Given the description of an element on the screen output the (x, y) to click on. 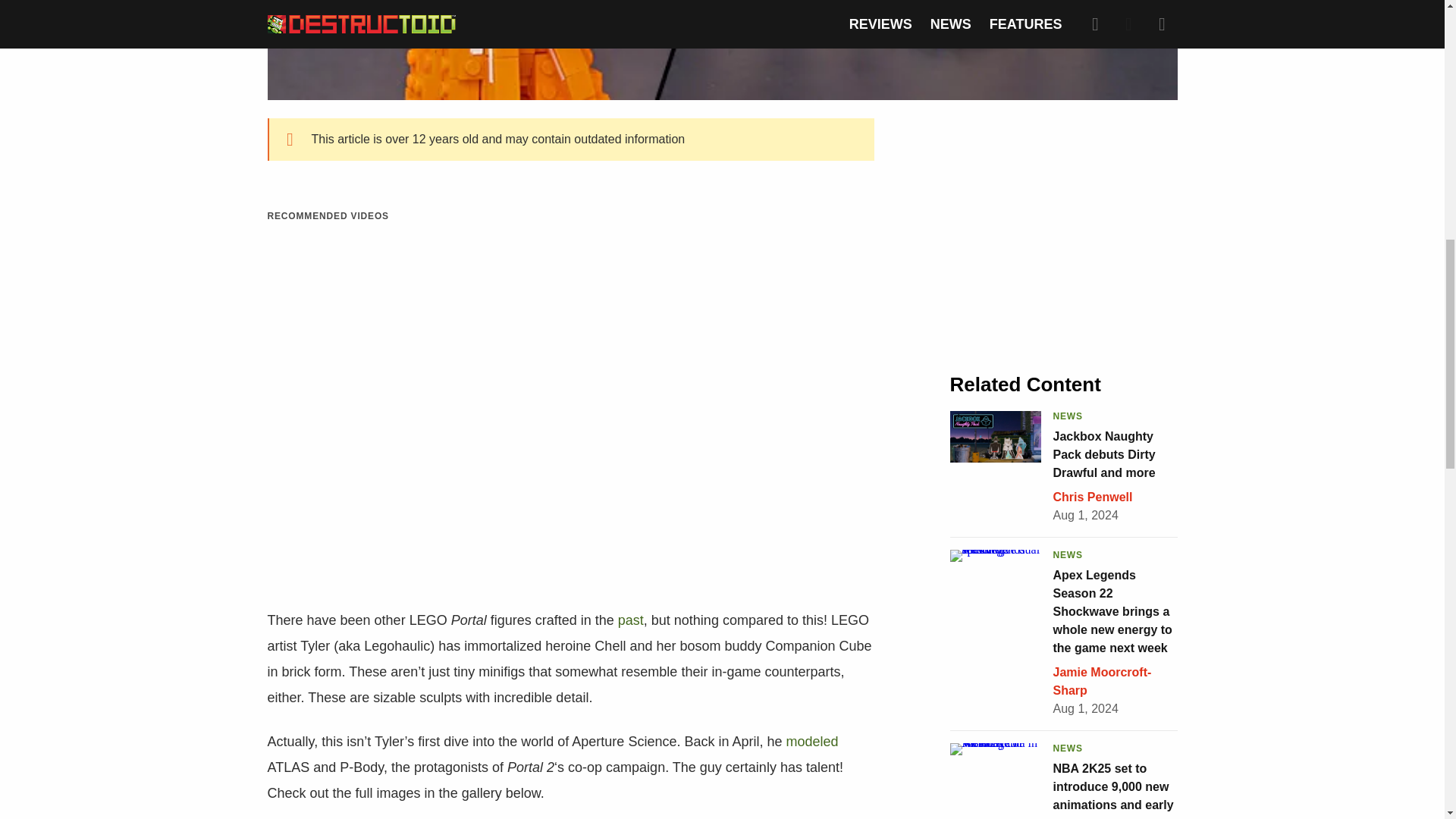
modeled (812, 741)
past (630, 620)
